Given the description of an element on the screen output the (x, y) to click on. 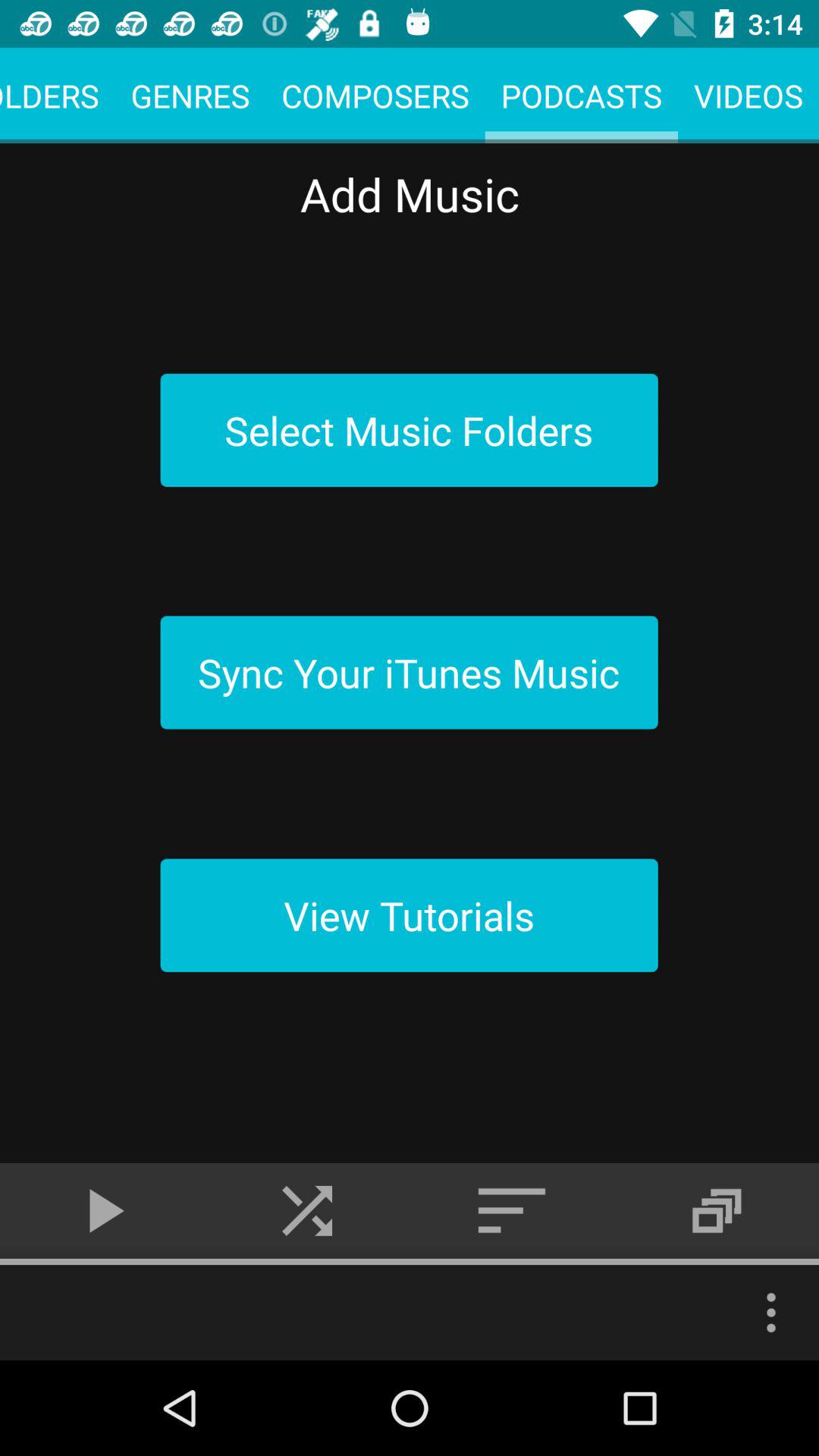
click on the composers button beside genres (375, 95)
click on shuffle icon (306, 1211)
click on first button (409, 430)
